Given the description of an element on the screen output the (x, y) to click on. 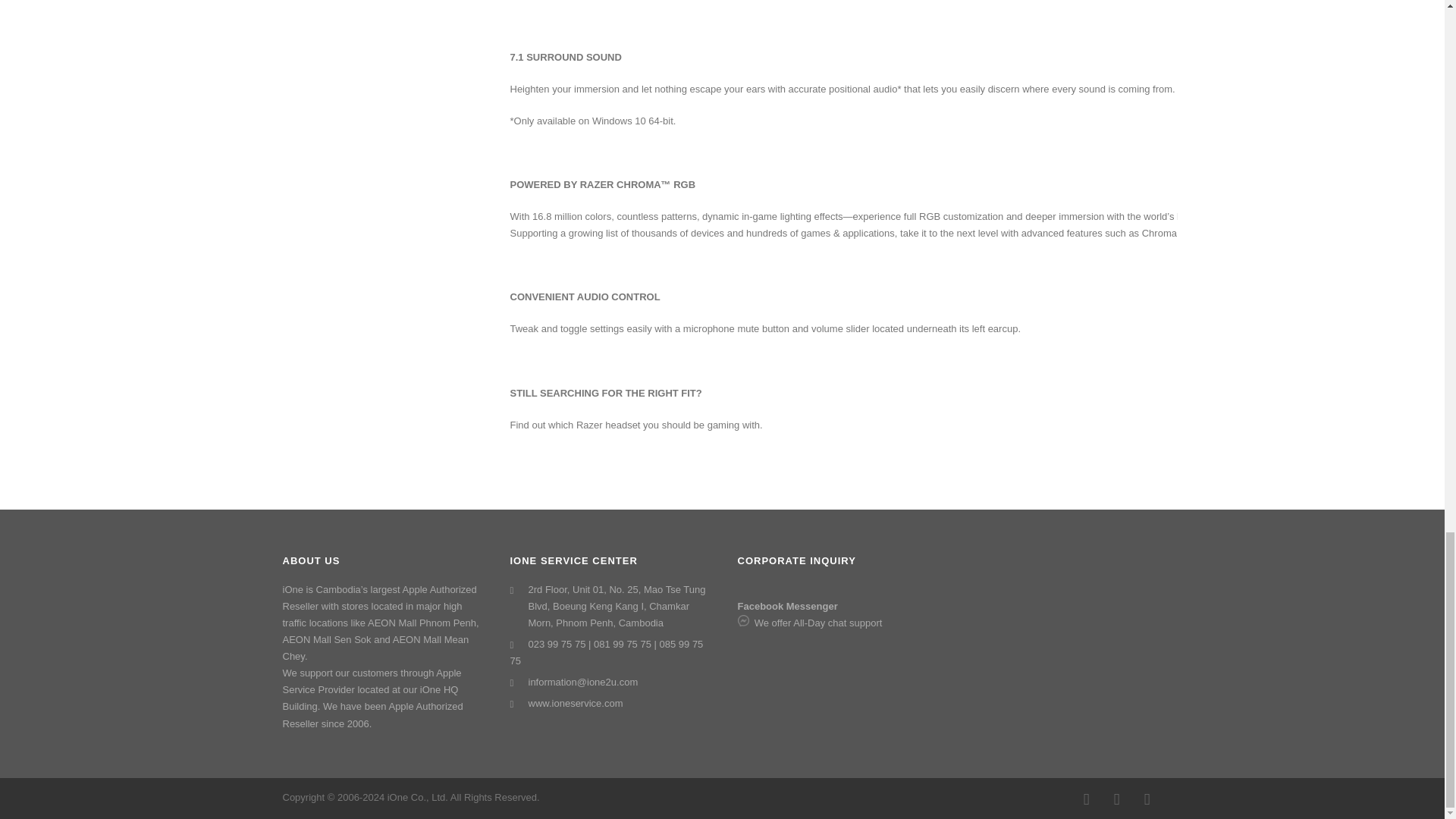
Facebook (1085, 798)
Instagram (1115, 798)
YouTube (1146, 798)
